Given the description of an element on the screen output the (x, y) to click on. 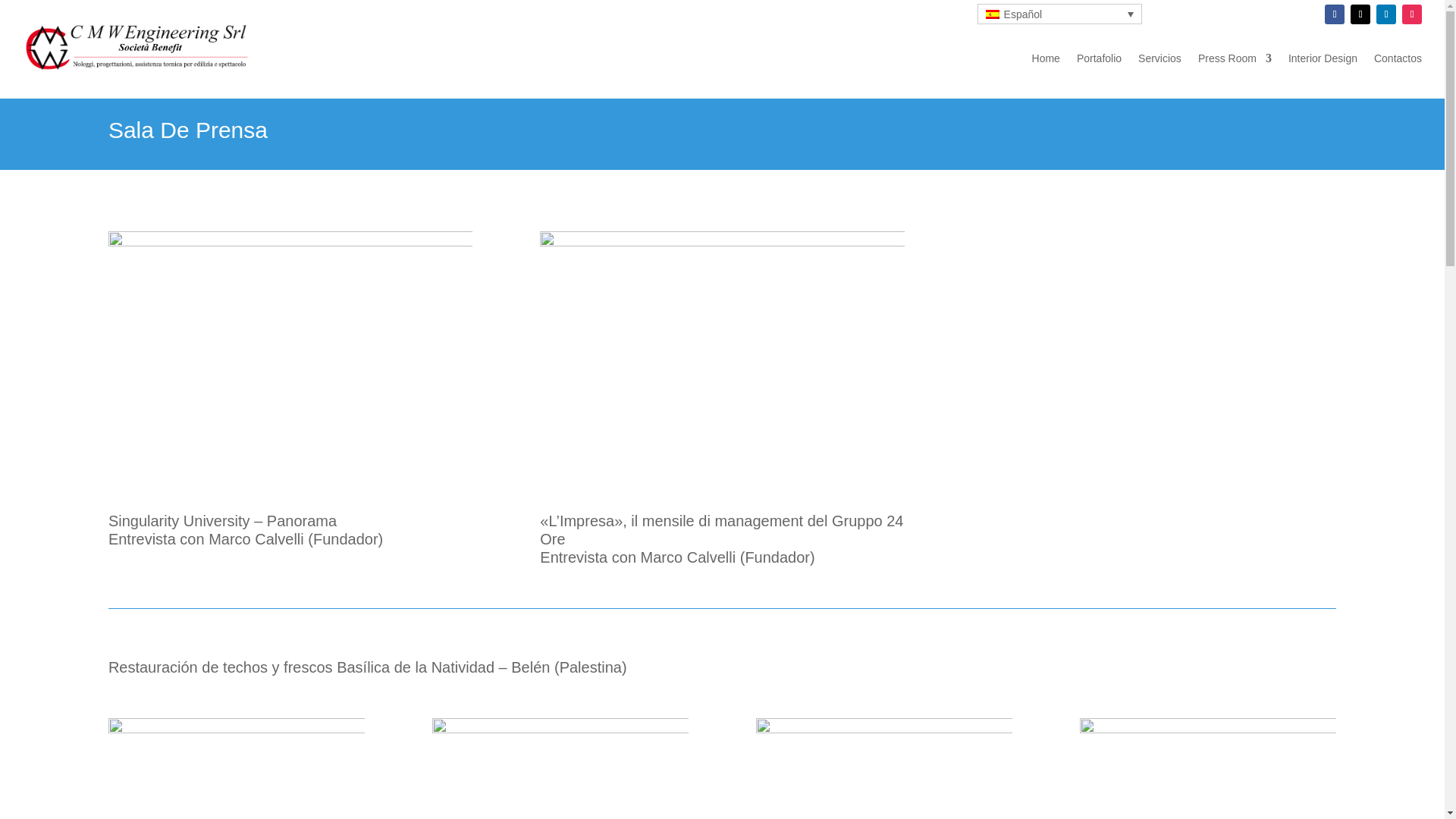
Interior Design (1322, 57)
Seguir en Facebook (1333, 14)
Press Room (1234, 57)
Singularity-University-2 copy (289, 354)
Seguir en LinkedIn (1385, 14)
Seguir en Instagram (1412, 14)
Seguir en X (1360, 14)
